Given the description of an element on the screen output the (x, y) to click on. 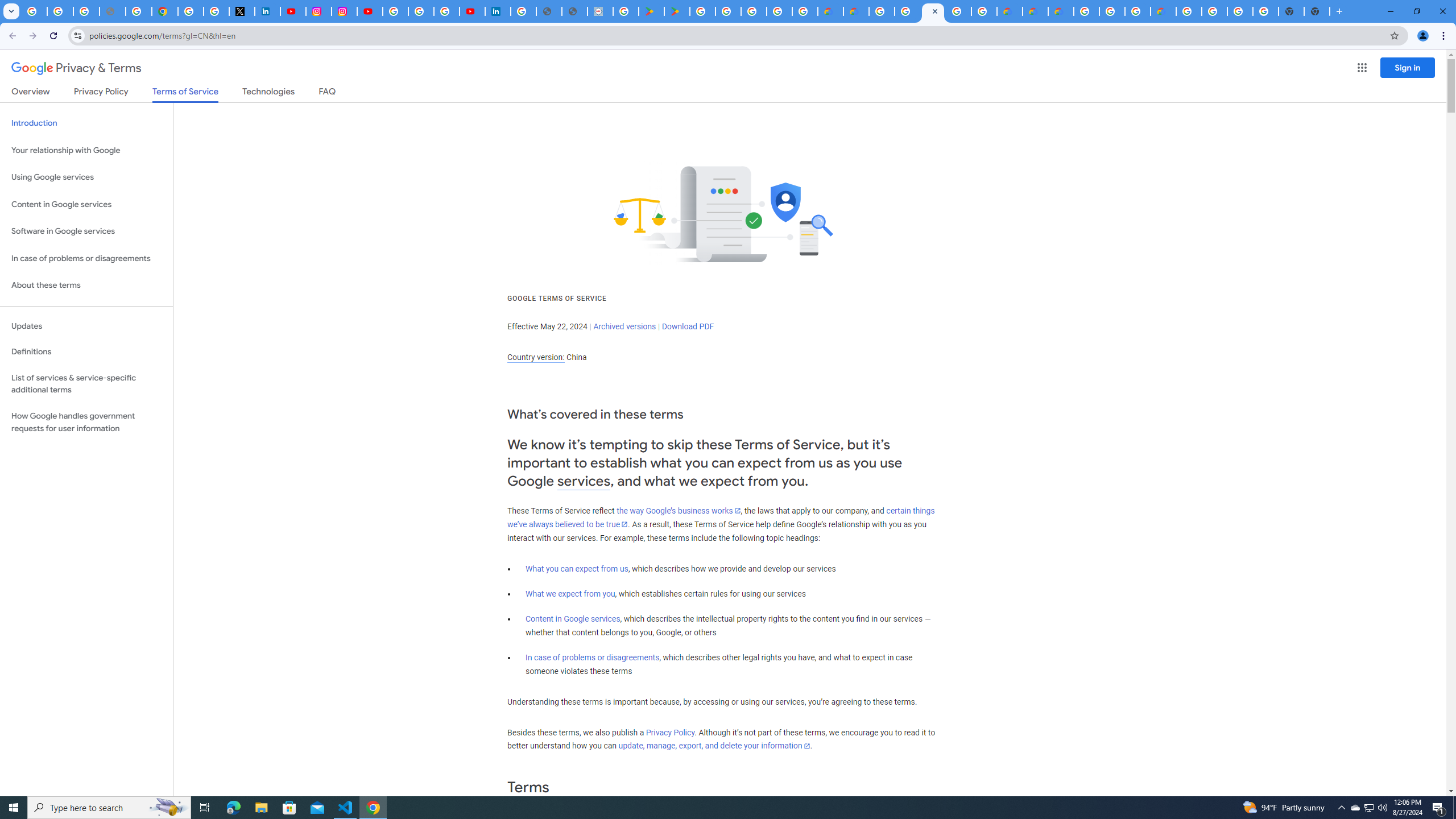
What you can expect from us (576, 568)
Browse Chrome as a guest - Computer - Google Chrome Help (1137, 11)
User Details (574, 11)
In case of problems or disagreements (592, 657)
Google Cloud Platform (1213, 11)
Browse Chrome as a guest - Computer - Google Chrome Help (1111, 11)
Google Cloud Platform (1188, 11)
